Given the description of an element on the screen output the (x, y) to click on. 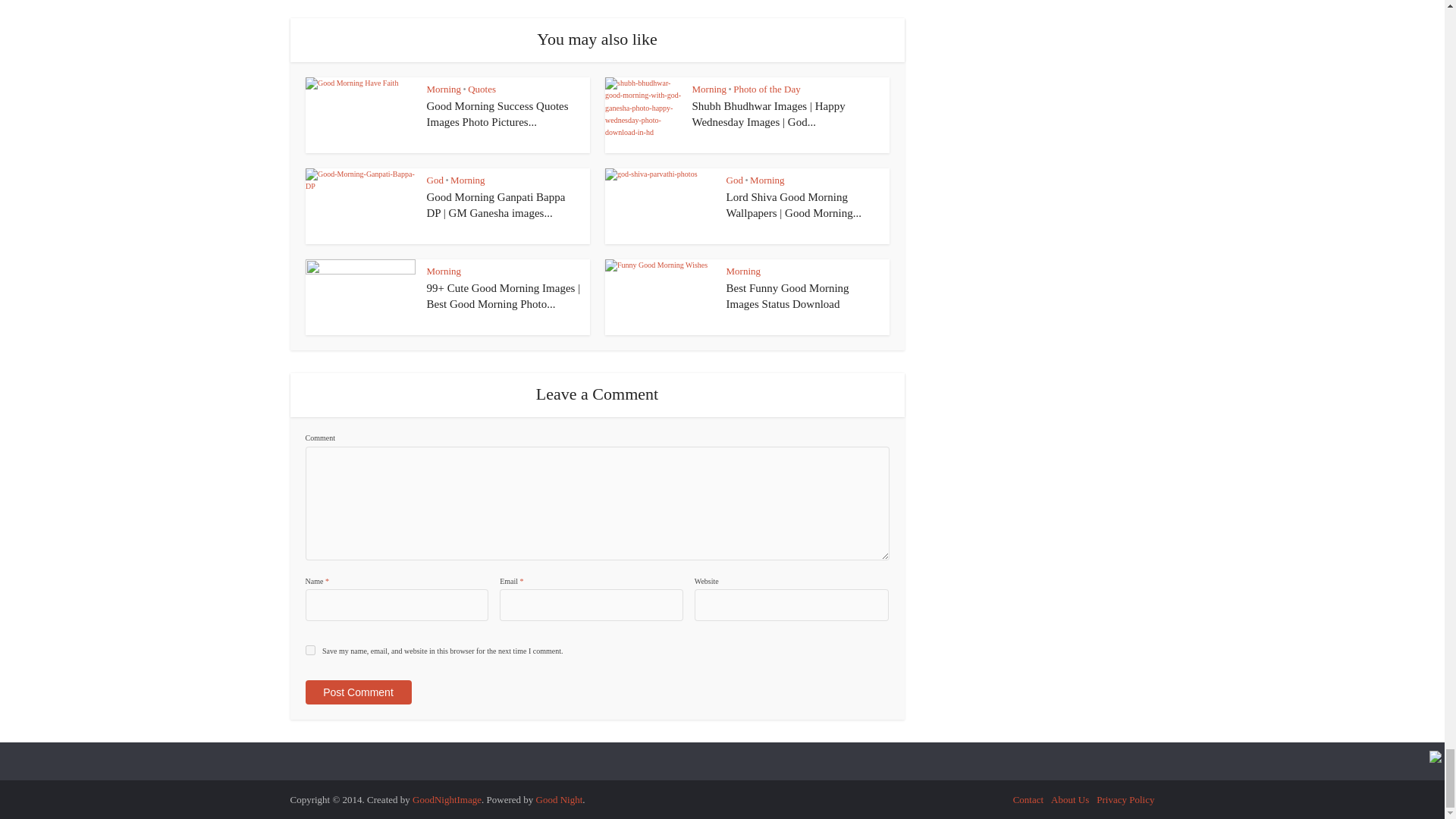
Post Comment (357, 692)
yes (309, 650)
Good Morning Success Quotes Images Photo Pictures Download (496, 113)
